Given the description of an element on the screen output the (x, y) to click on. 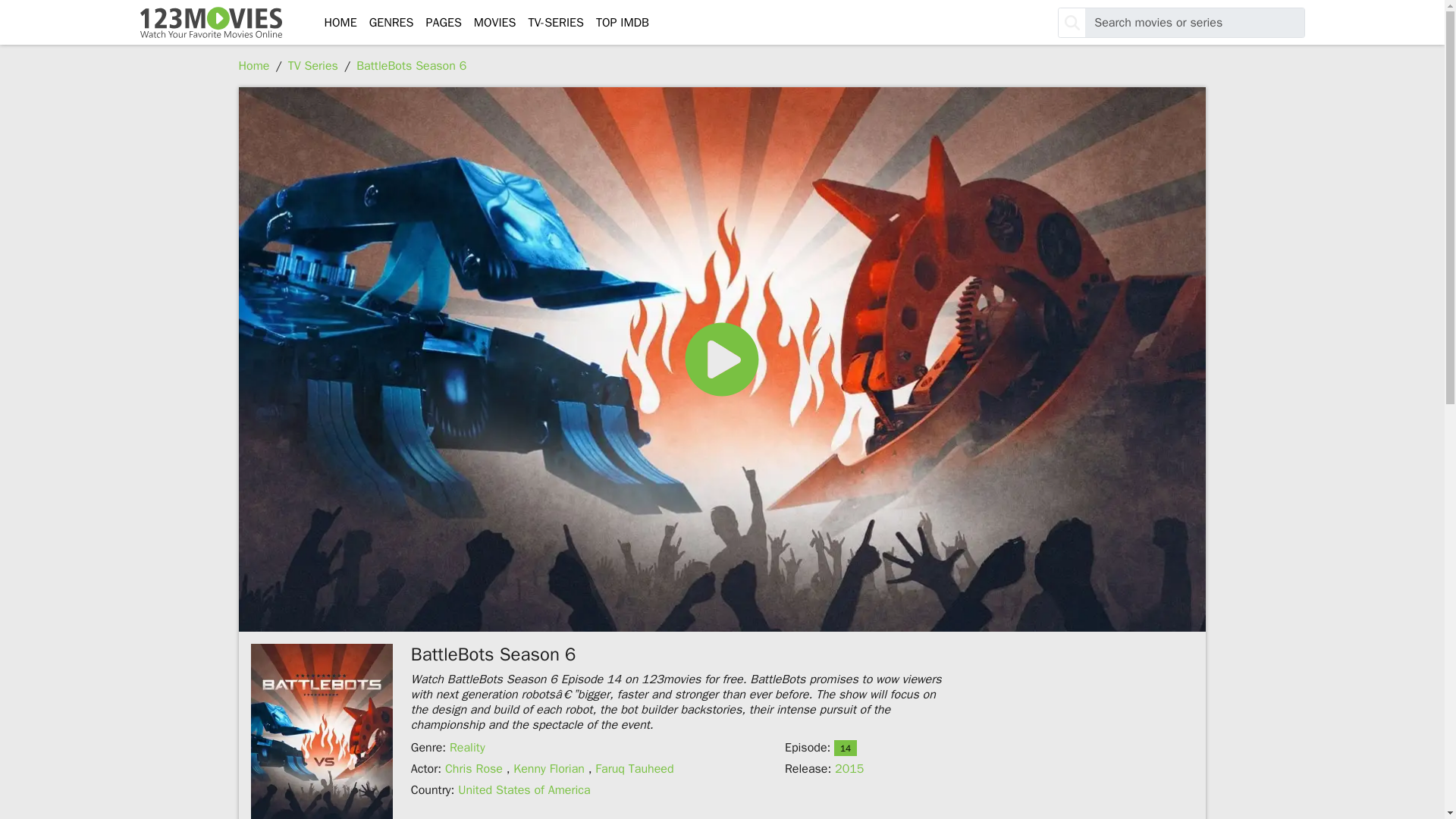
123Movies (210, 22)
TOP IMDB (622, 22)
123Movies (210, 22)
PAGES (443, 22)
TV Series (312, 65)
GENRES (391, 22)
Home (253, 65)
HOME (340, 22)
TV-SERIES (555, 22)
BattleBots Season 6 (410, 65)
MOVIES (494, 22)
